Given the description of an element on the screen output the (x, y) to click on. 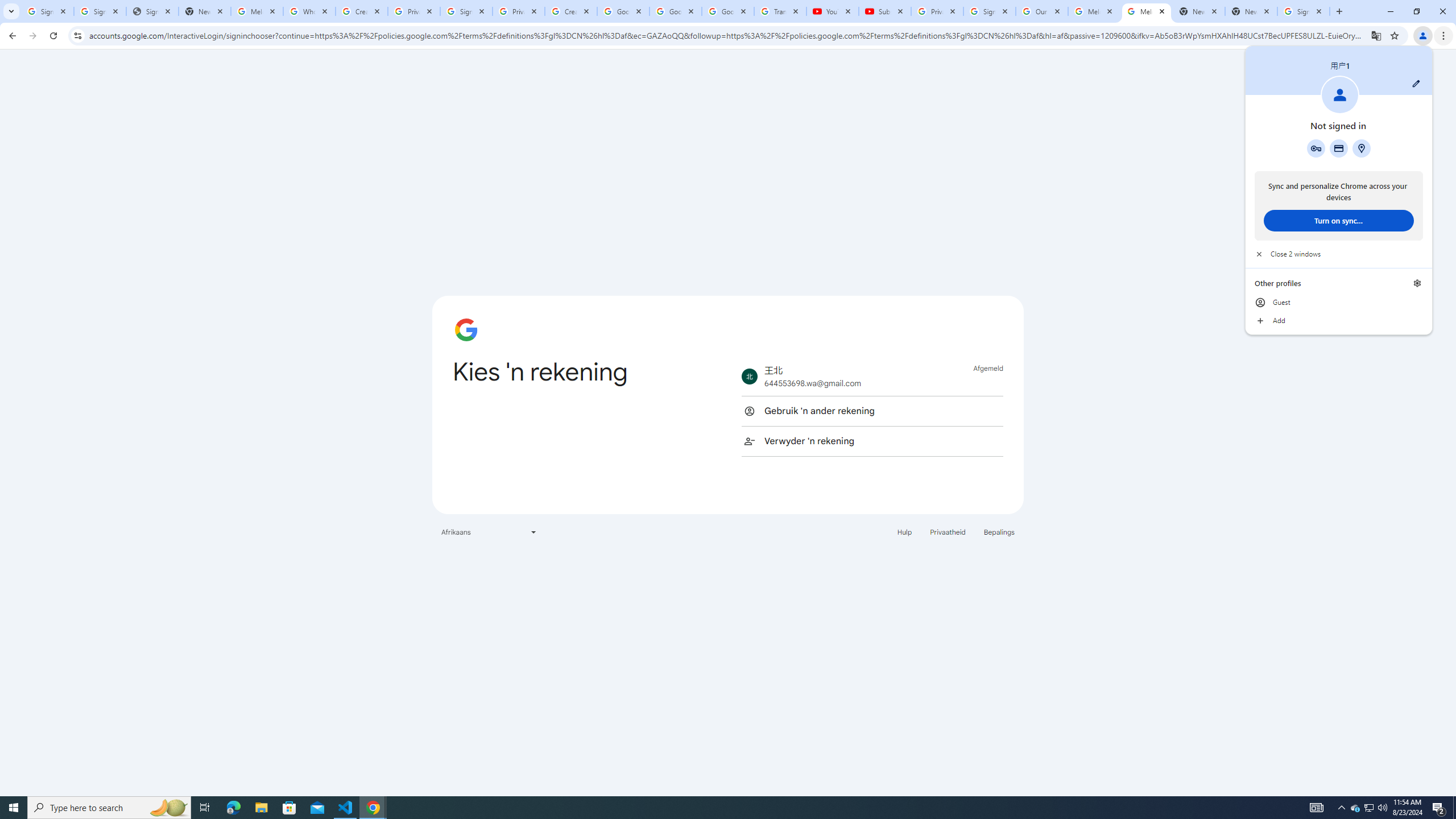
Hulp (903, 531)
Search highlights icon opens search home window (167, 807)
Visual Studio Code - 1 running window (345, 807)
Close 2 windows (1338, 253)
Create your Google Account (571, 11)
Translate this page (1376, 35)
